Given the description of an element on the screen output the (x, y) to click on. 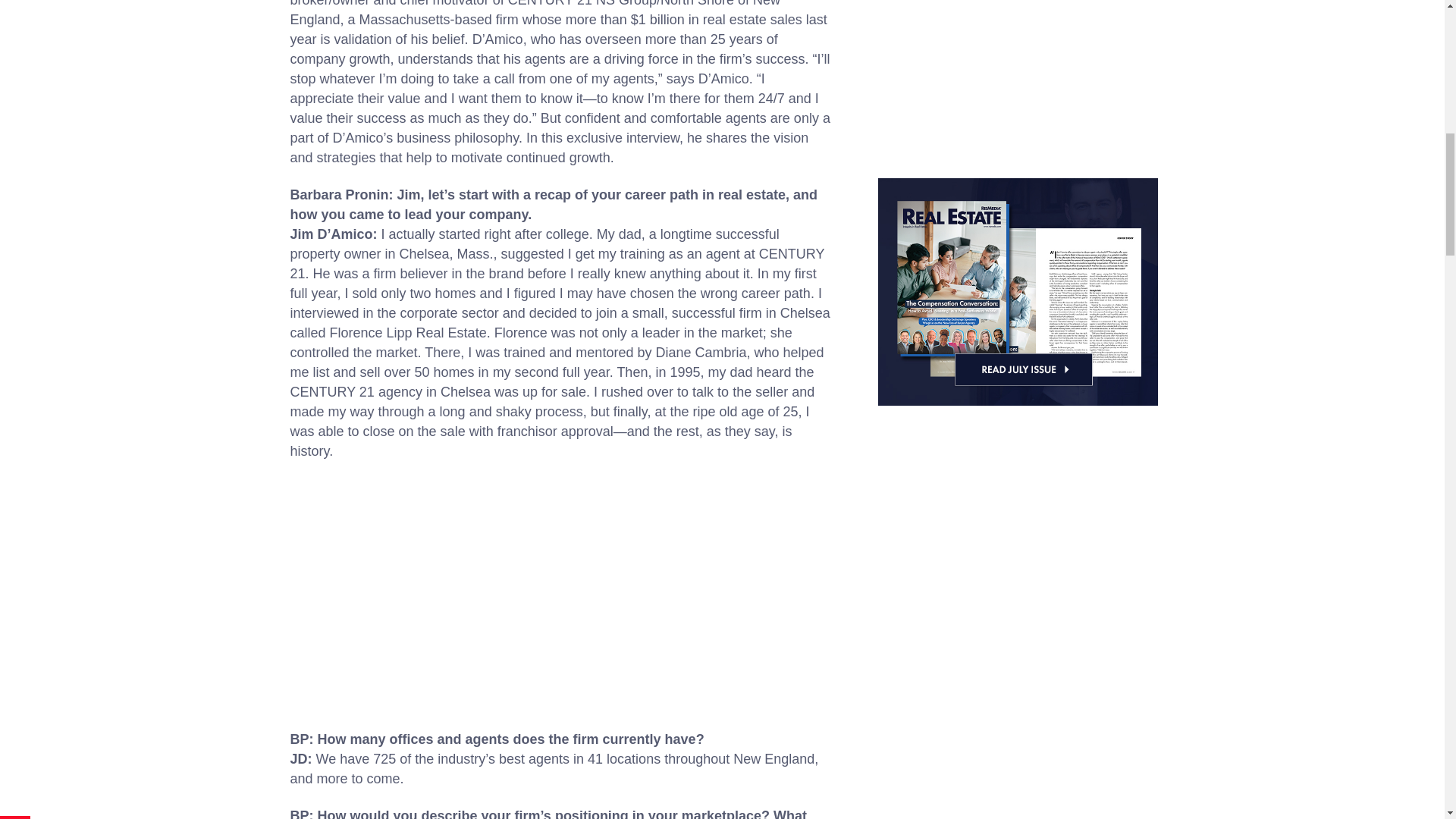
3rd party ad content (560, 591)
3rd party ad content (1017, 70)
